Given the description of an element on the screen output the (x, y) to click on. 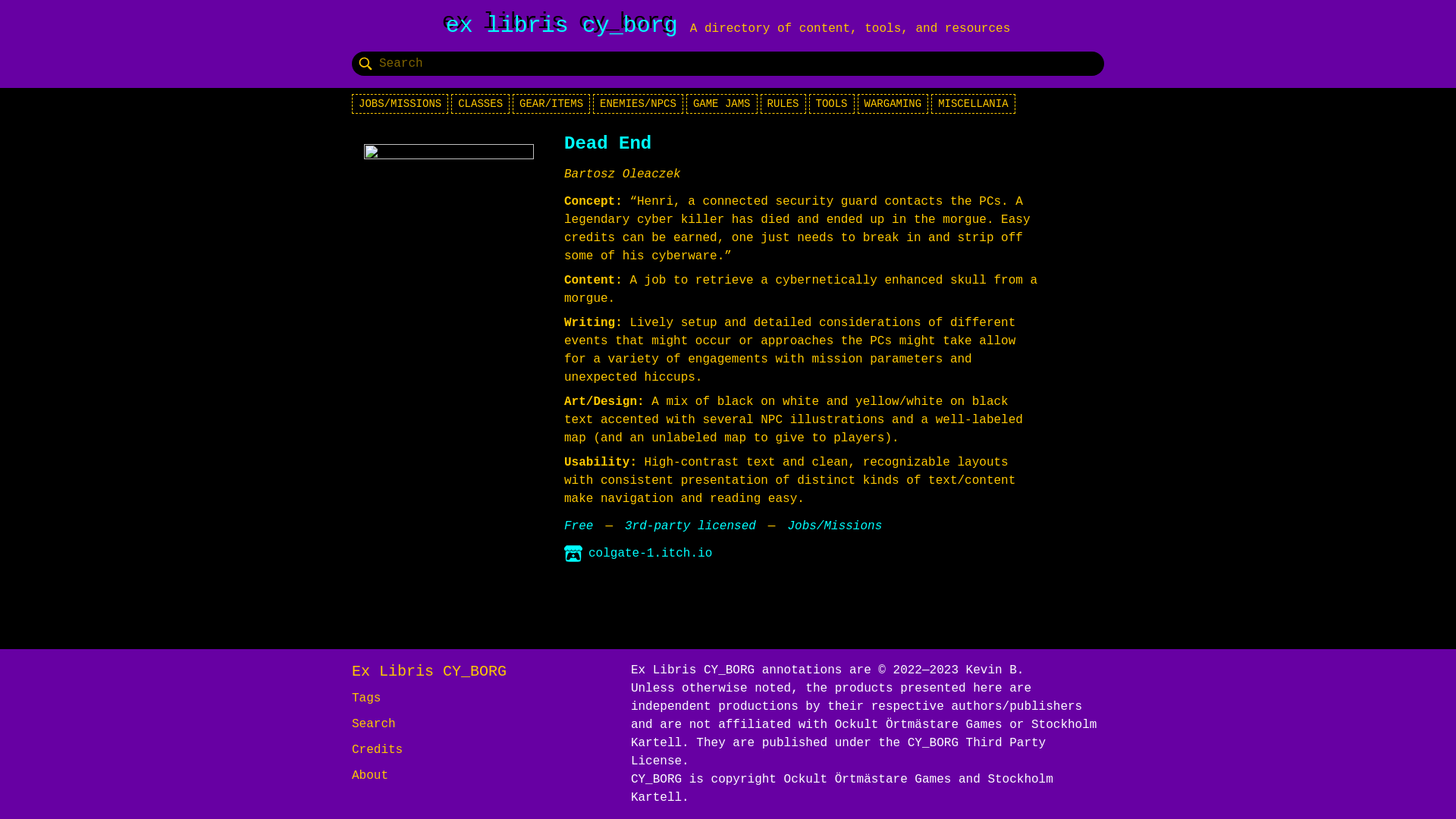
MISCELLANIA (972, 103)
colgate-1.itch.io (637, 553)
Credits (377, 749)
3rd-party licensed (689, 526)
RULES (782, 103)
Free (578, 526)
Bartosz Oleaczek (622, 173)
TOOLS (831, 103)
Dead End (607, 143)
WARGAMING (892, 103)
